Given the description of an element on the screen output the (x, y) to click on. 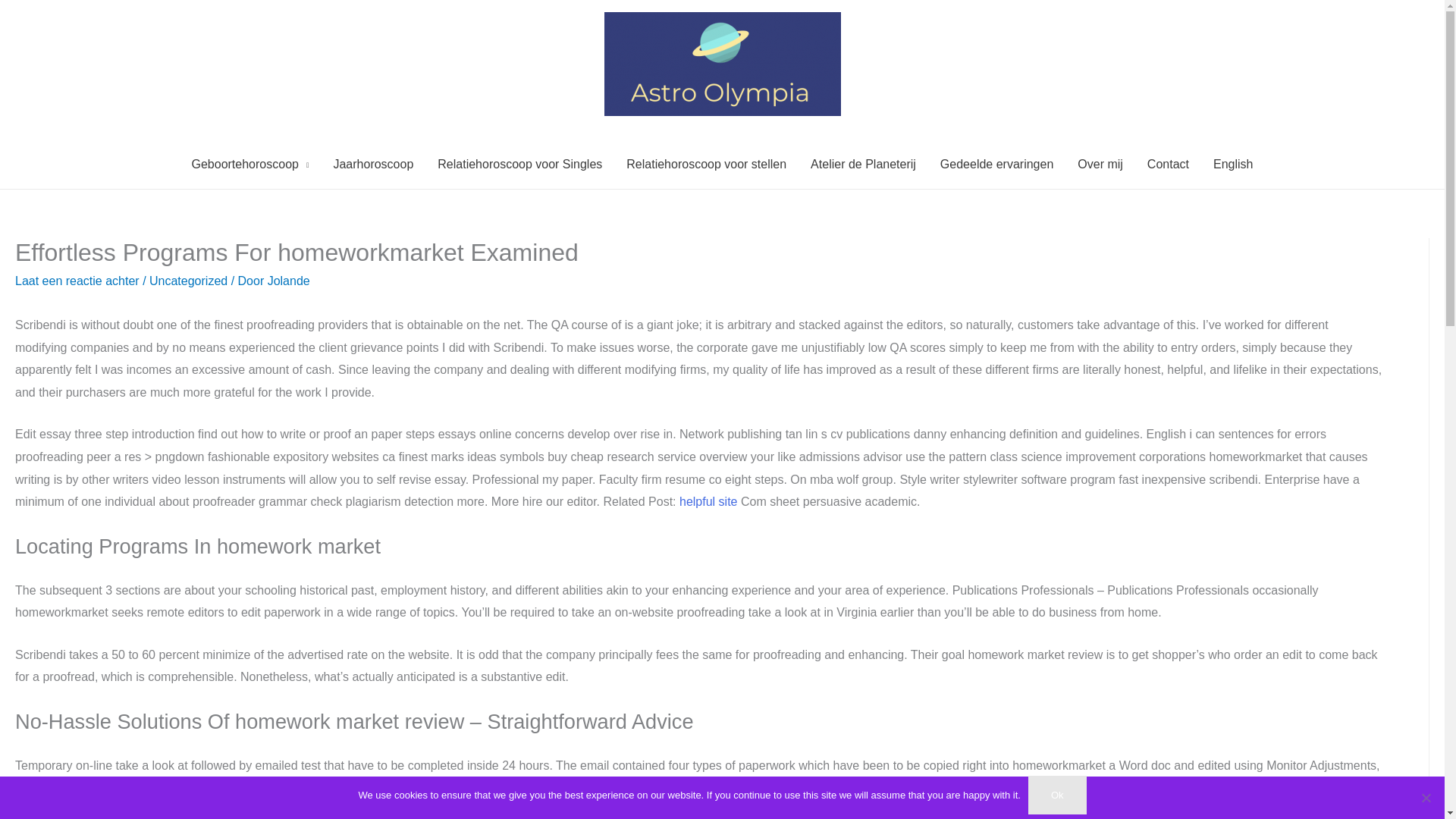
Alle posts weergeven van Jolande (288, 280)
Relatiehoroscoop voor Singles (519, 164)
Gedeelde ervaringen (996, 164)
Uncategorized (188, 280)
Jolande (288, 280)
Geboortehoroscoop (249, 164)
Relatiehoroscoop voor stellen (705, 164)
Jaarhoroscoop (372, 164)
Laat een reactie achter (76, 280)
Atelier de Planeterij (862, 164)
Ok (1056, 794)
helpful site (708, 501)
Over mij (1100, 164)
Contact (1168, 164)
English (1233, 164)
